Given the description of an element on the screen output the (x, y) to click on. 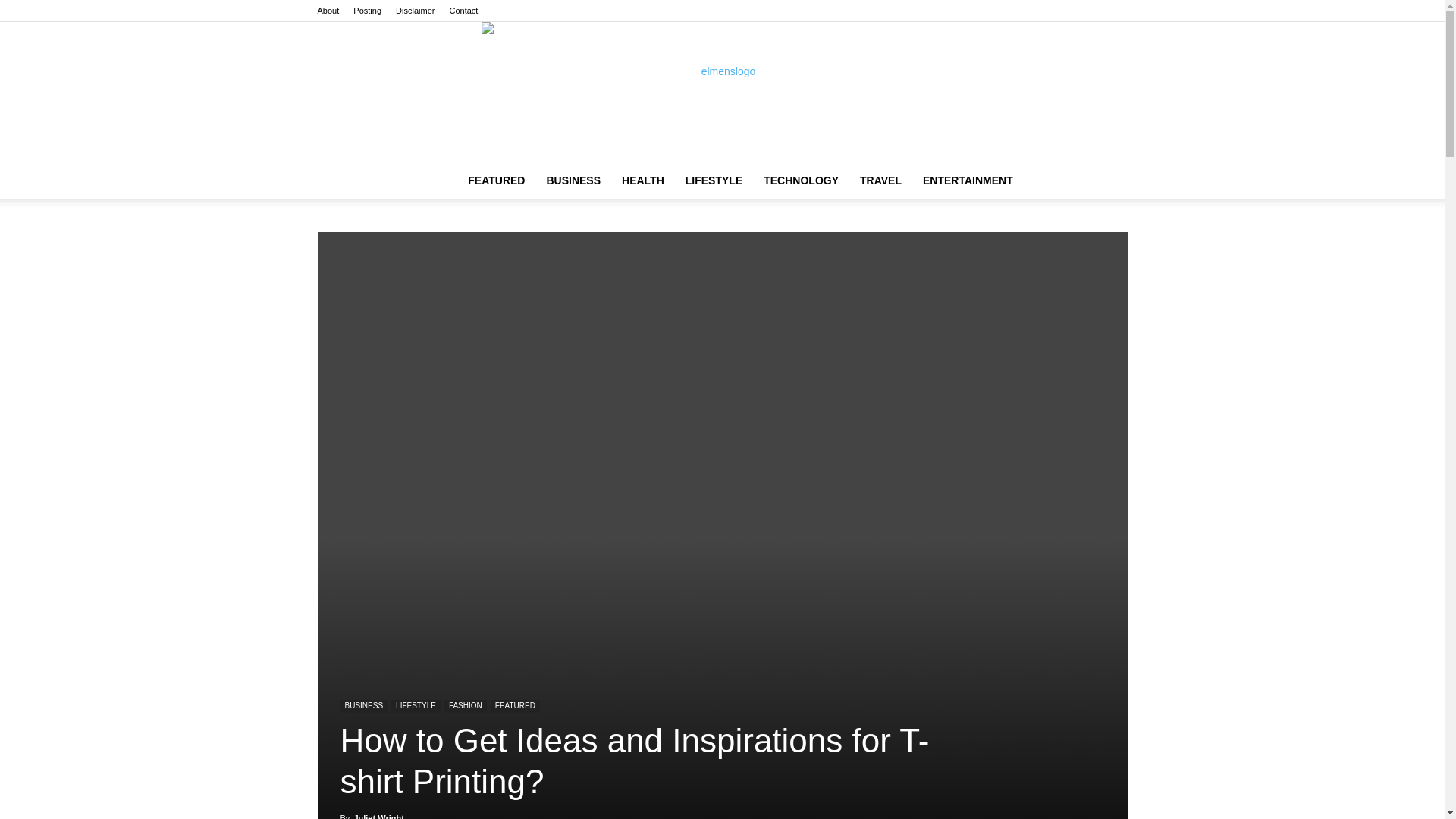
CATEGORIES (496, 180)
elmenslogo (721, 92)
LIFESTYLE (713, 180)
